Given the description of an element on the screen output the (x, y) to click on. 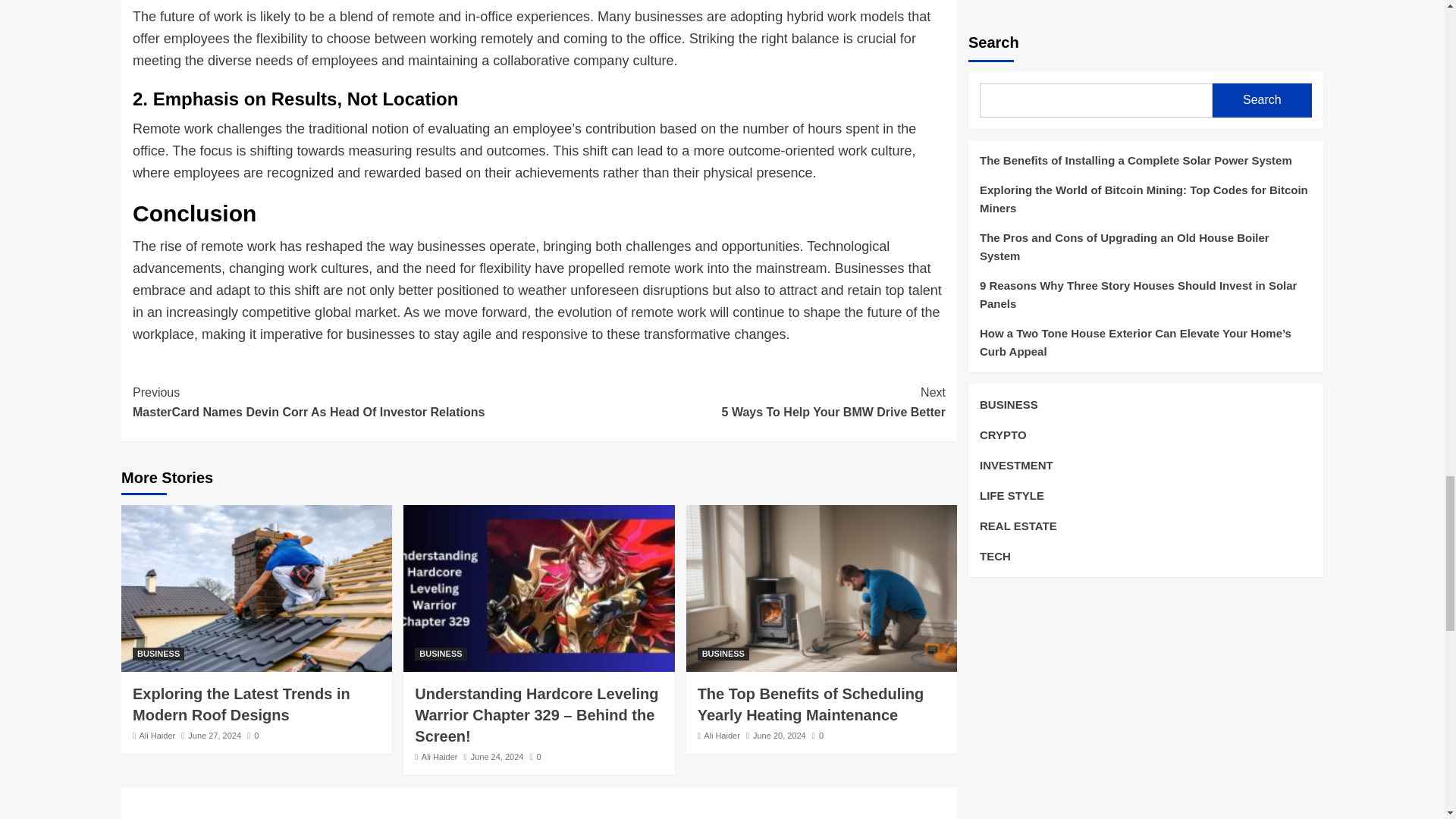
June 27, 2024 (214, 735)
Exploring the Latest Trends in Modern Roof Designs (241, 704)
BUSINESS (741, 402)
Ali Haider (158, 653)
